Given the description of an element on the screen output the (x, y) to click on. 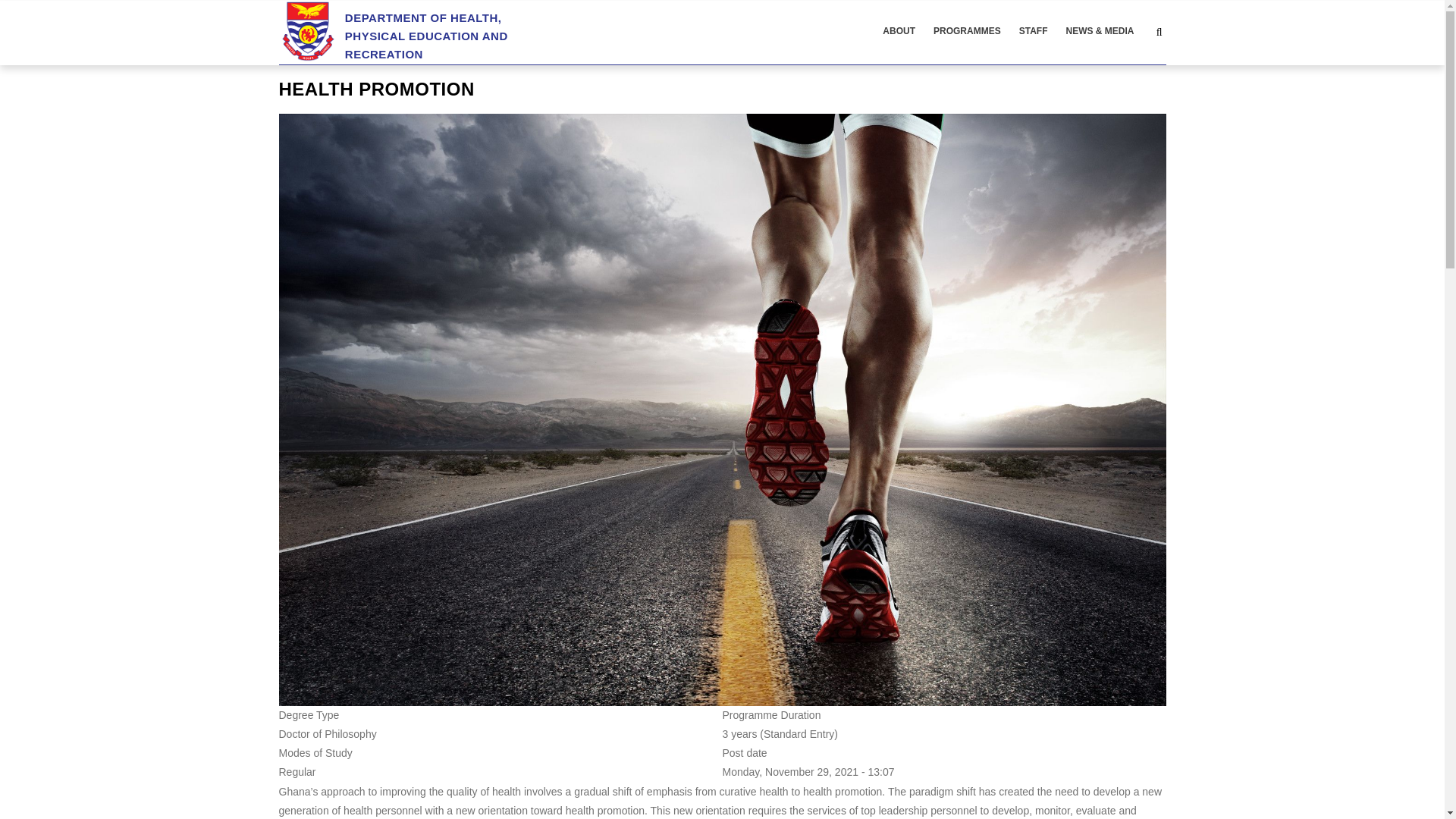
DEPARTMENT OF HEALTH, PHYSICAL EDUCATION AND RECREATION (419, 30)
PROGRAMMES (967, 31)
Home (419, 30)
